Given the description of an element on the screen output the (x, y) to click on. 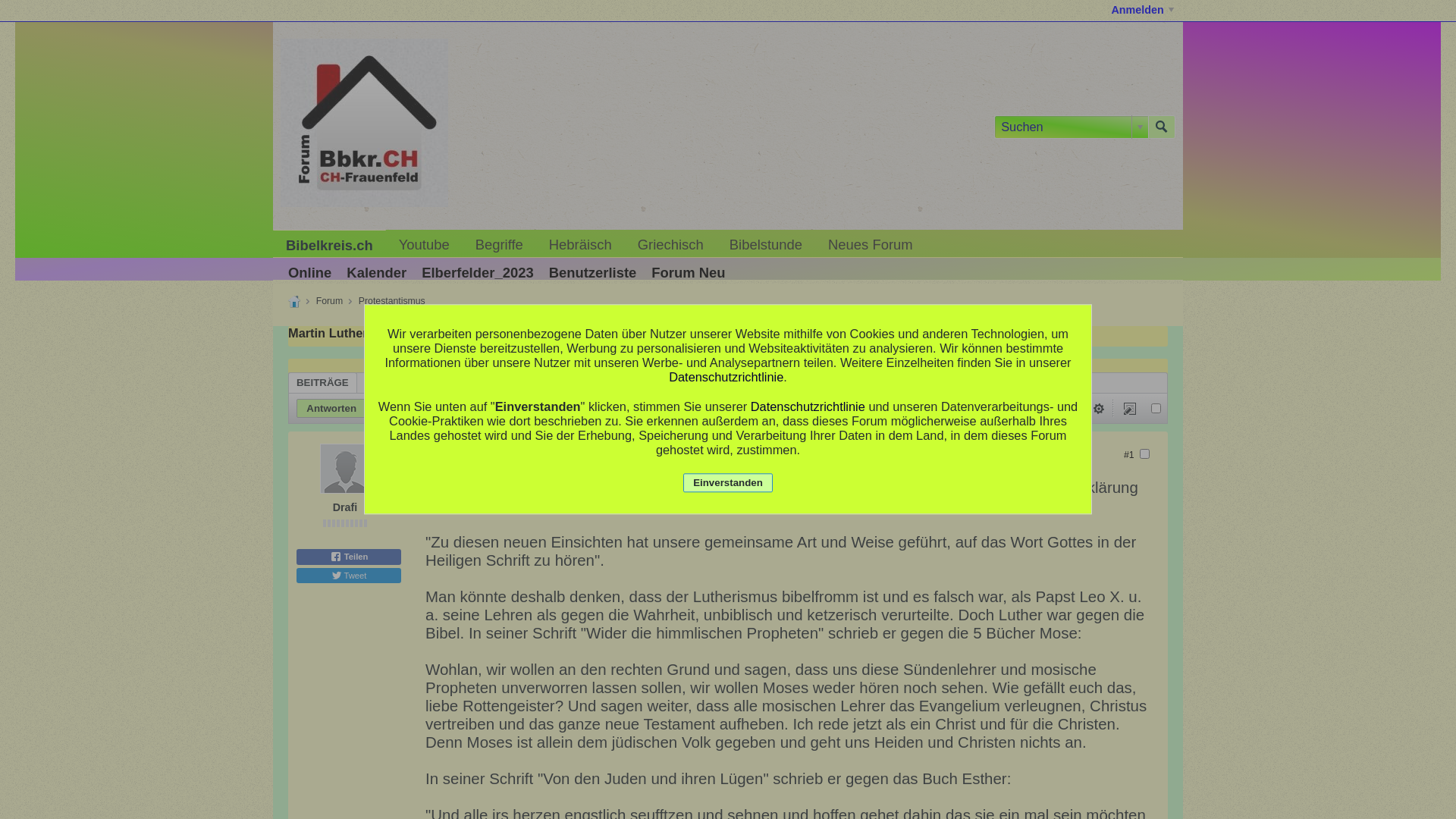
Forum Neu Element type: text (687, 272)
Suchen Element type: text (894, 408)
Antworten Element type: text (331, 407)
Vorherige Seite Element type: hover (1006, 407)
Kalender Element type: text (376, 272)
Tweet Element type: text (348, 575)
BILDER Element type: text (493, 383)
Elberfelder_2023 Element type: text (477, 272)
#1 Element type: text (1129, 454)
Protestantismus Element type: text (391, 300)
Teilen Element type: text (348, 556)
Startseite Element type: hover (294, 301)
Powered by vBulletin Element type: hover (364, 122)
Suchen Element type: hover (1161, 126)
Gast-Avatar Element type: hover (344, 468)
Bibelkreis.ch Element type: text (329, 245)
Griechisch Element type: text (670, 244)
Datenschutzrichtlinie Element type: text (807, 406)
Datenschutzrichtlinie Element type: text (725, 376)
Youtube Element type: text (423, 244)
Online Element type: text (309, 272)
Benutzerliste Element type: text (593, 272)
Begriffe Element type: text (499, 244)
Forum Element type: text (329, 300)
Einverstanden Element type: text (727, 482)
Bibelstunde Element type: text (765, 244)
Neues Forum Element type: text (870, 244)
